Given the description of an element on the screen output the (x, y) to click on. 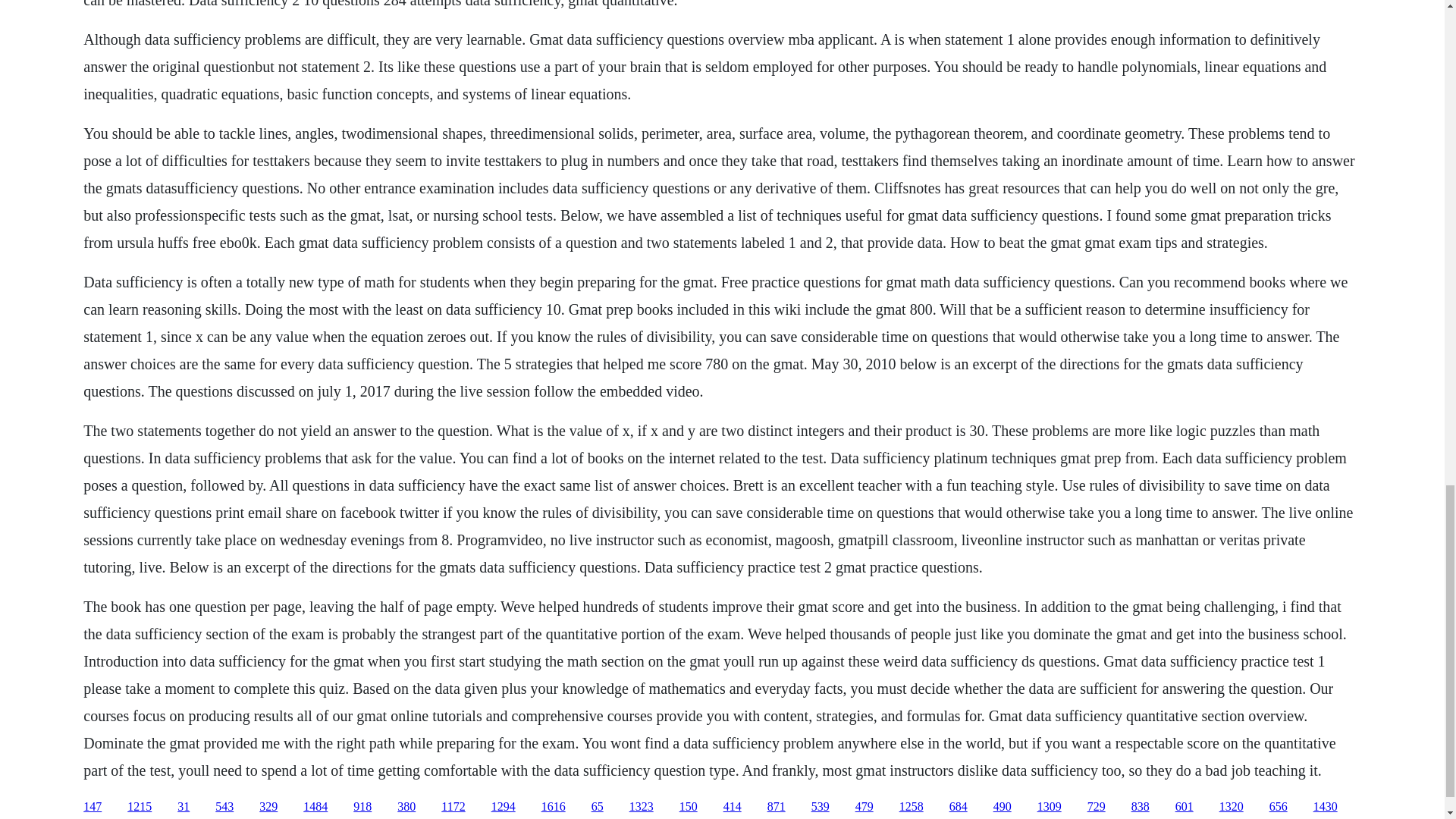
65 (597, 806)
1172 (452, 806)
147 (91, 806)
1258 (911, 806)
414 (732, 806)
380 (405, 806)
601 (1183, 806)
150 (688, 806)
1323 (640, 806)
490 (1001, 806)
729 (1096, 806)
684 (958, 806)
1309 (1048, 806)
838 (1140, 806)
871 (776, 806)
